Given the description of an element on the screen output the (x, y) to click on. 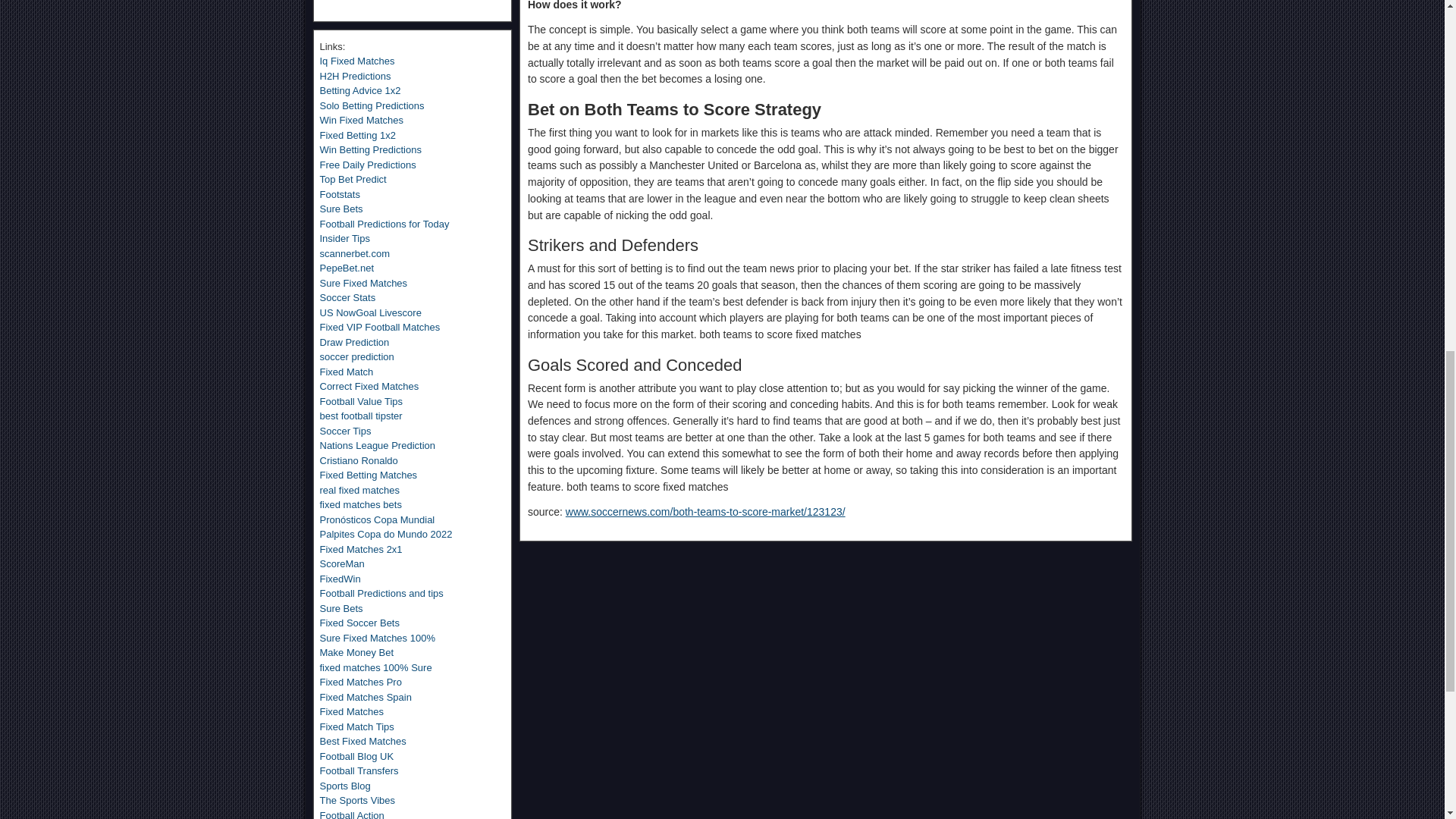
Betting Advice 1x2 (360, 90)
Sure Bets (341, 208)
Solo Betting Predictions (372, 105)
Free Daily Predictions (368, 164)
Fixed Betting 1x2 (358, 134)
Footstats (339, 194)
H2H Predictions (355, 75)
Win Betting Predictions (371, 149)
Sure Fixed Matches (363, 283)
scannerbet.com (355, 253)
